Given the description of an element on the screen output the (x, y) to click on. 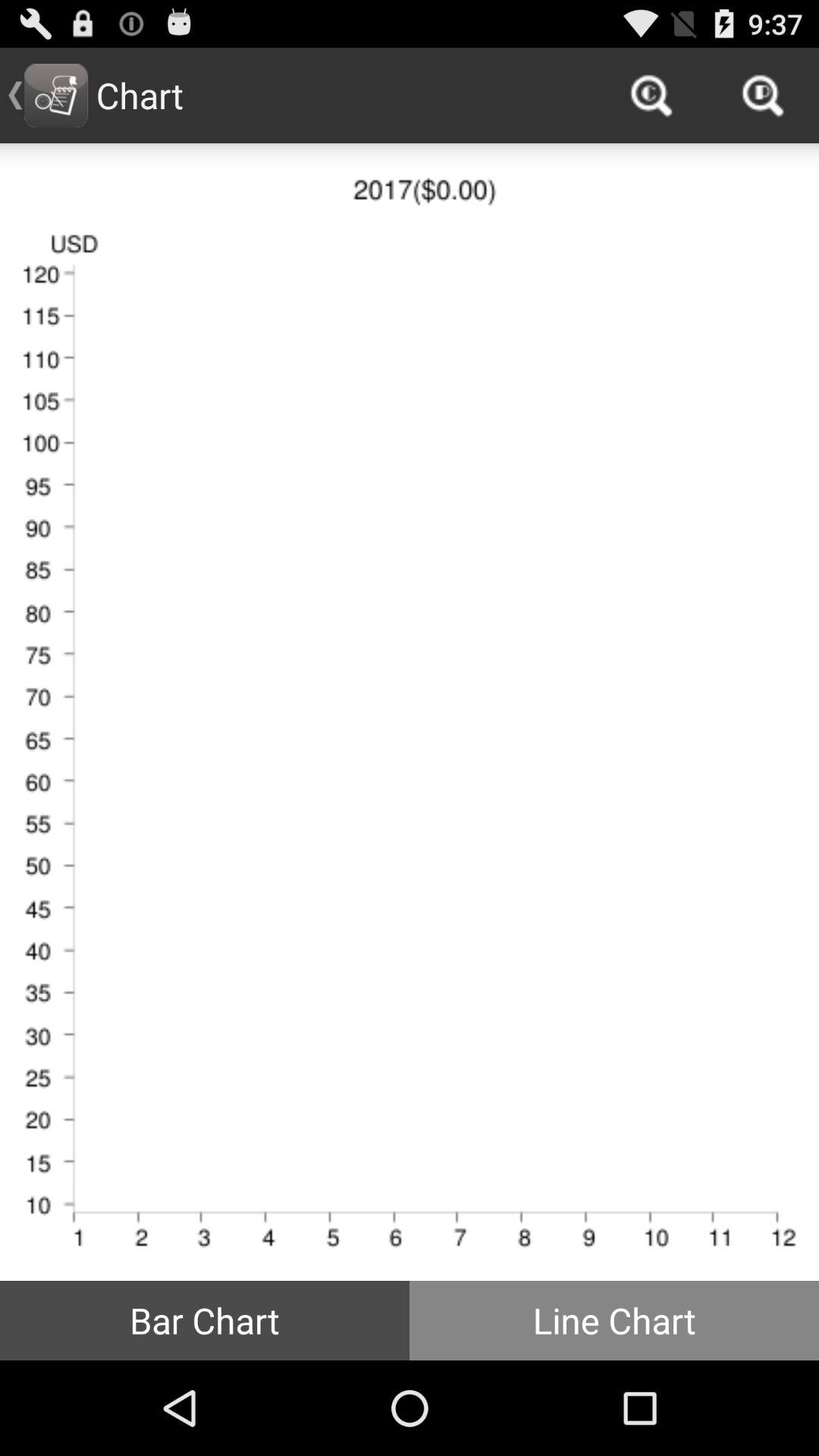
scroll until the bar chart button (204, 1320)
